Given the description of an element on the screen output the (x, y) to click on. 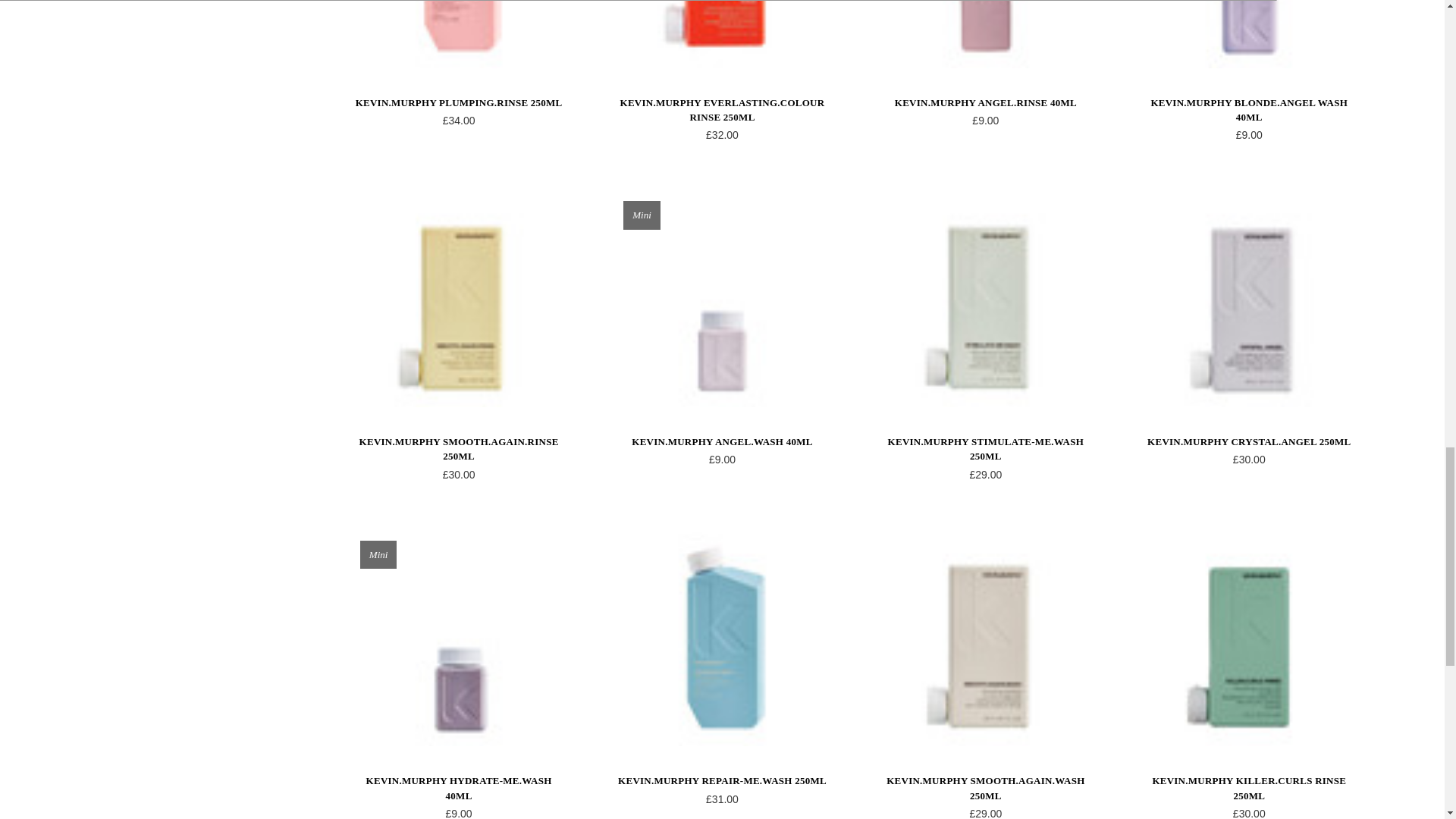
 KEVIN.MURPHY ANGEL.WASH 40ml  (721, 299)
 KEVIN.MURPHY PLUMPING.RINSE 250ml  (459, 33)
 KEVIN.MURPHY STIMULATE-ME.WASH 250ml  (986, 299)
 KEVIN.MURPHY BLONDE.ANGEL WASH 40ml  (1248, 33)
 KEVIN.MURPHY ANGEL.RINSE 40ml  (986, 33)
 KEVIN.MURPHY SMOOTH.AGAIN.RINSE 250ml  (459, 299)
 KEVIN.MURPHY EVERLASTING.COLOUR RINSE 250ml  (721, 33)
